Given the description of an element on the screen output the (x, y) to click on. 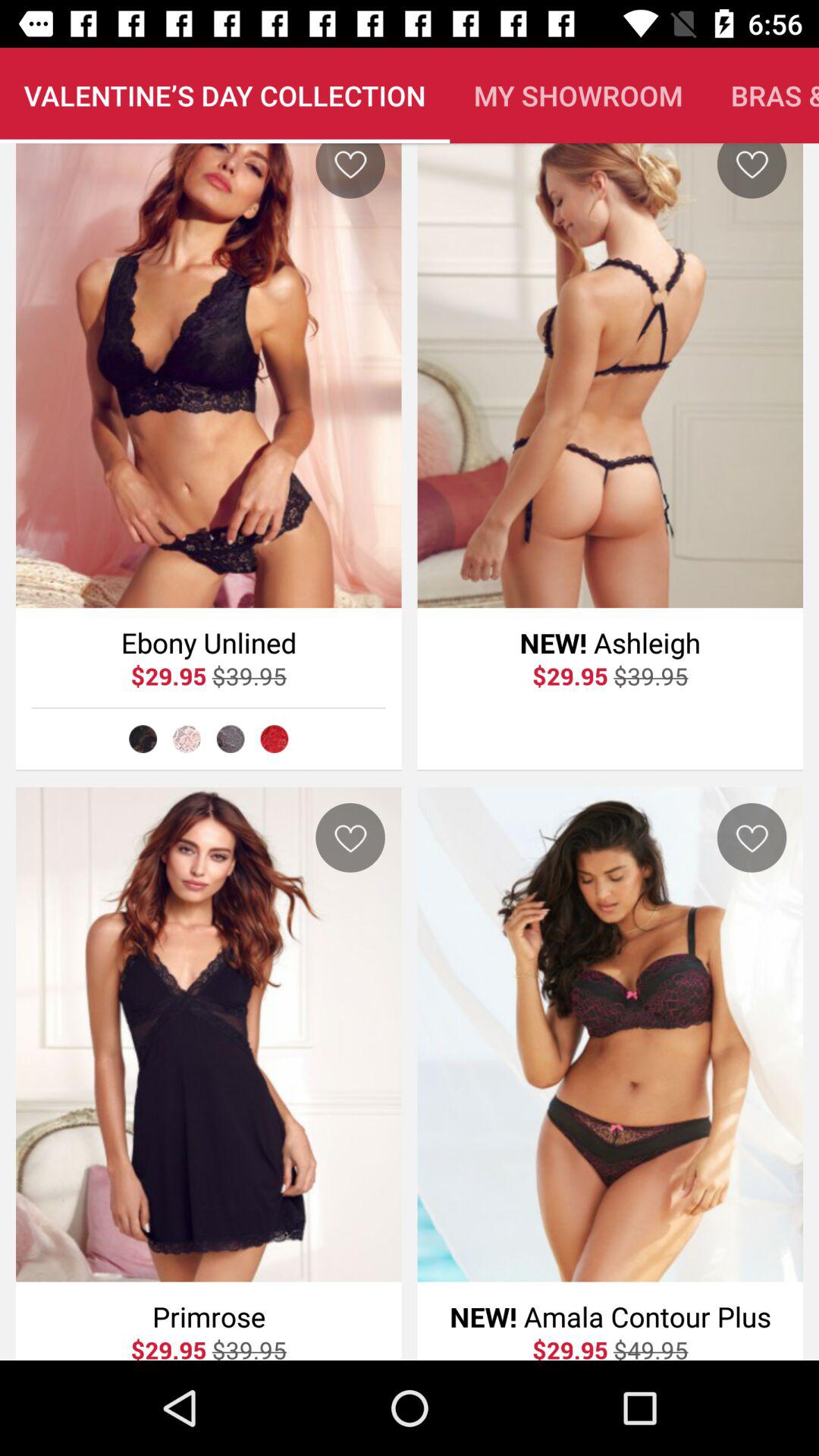
open item below the 29 95 39 icon (142, 738)
